Given the description of an element on the screen output the (x, y) to click on. 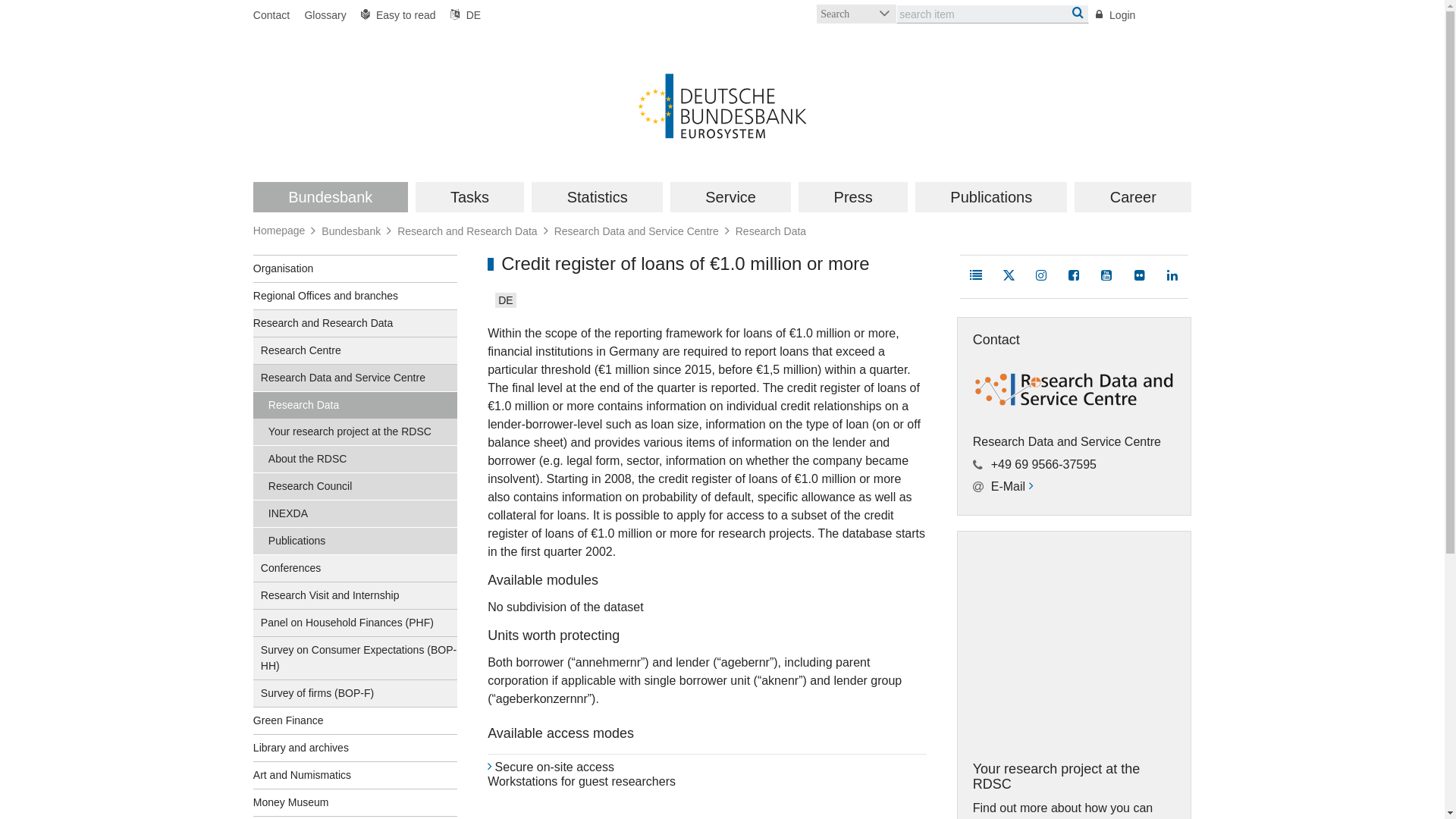
DE (462, 15)
Search (856, 13)
Glossary (325, 15)
Easy to read (398, 15)
Contact (274, 15)
Glossary (325, 15)
Bundesbank (330, 196)
Search (856, 13)
Login (1115, 15)
Contact (274, 15)
